Given the description of an element on the screen output the (x, y) to click on. 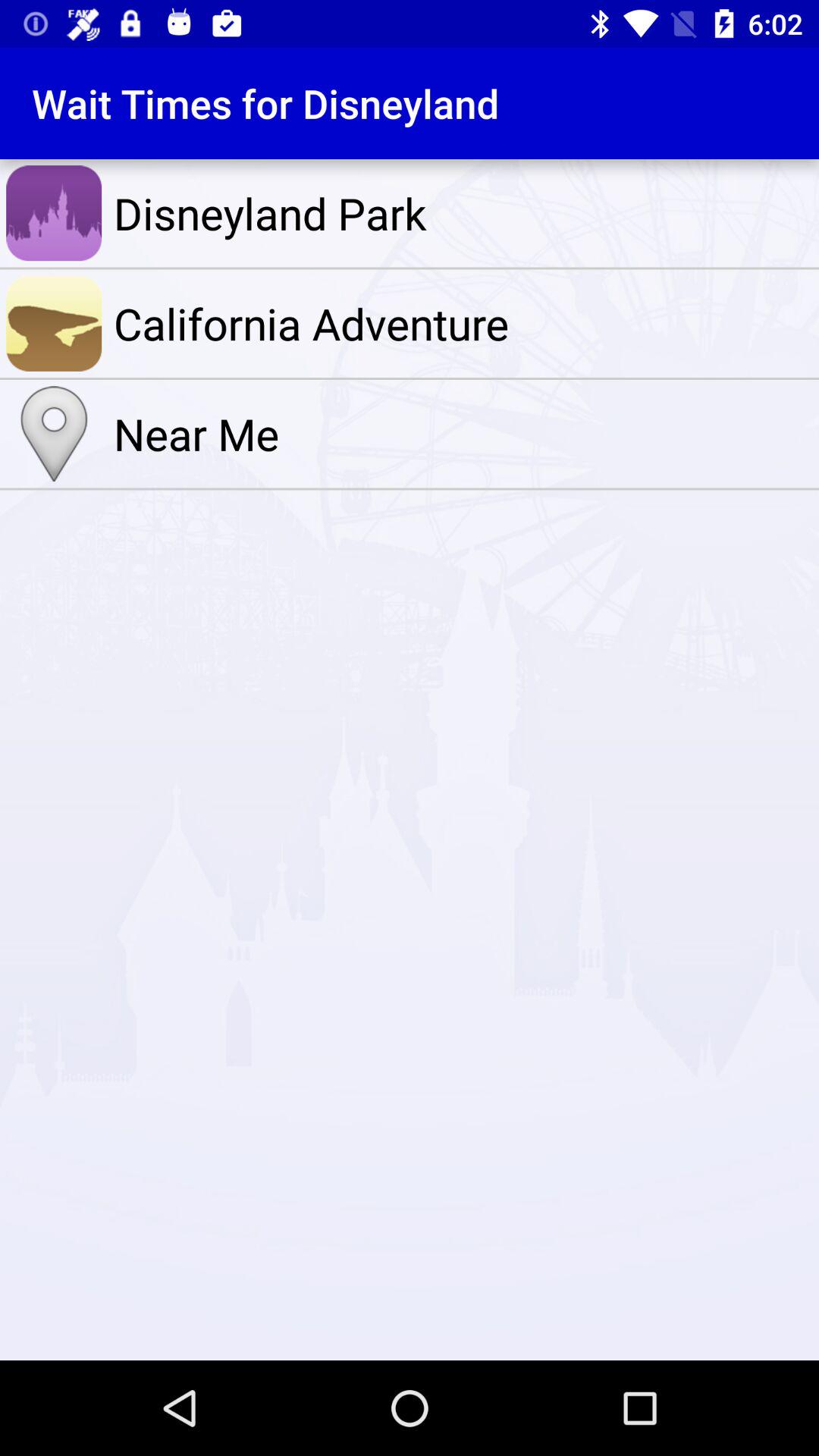
launch california adventure (462, 323)
